Given the description of an element on the screen output the (x, y) to click on. 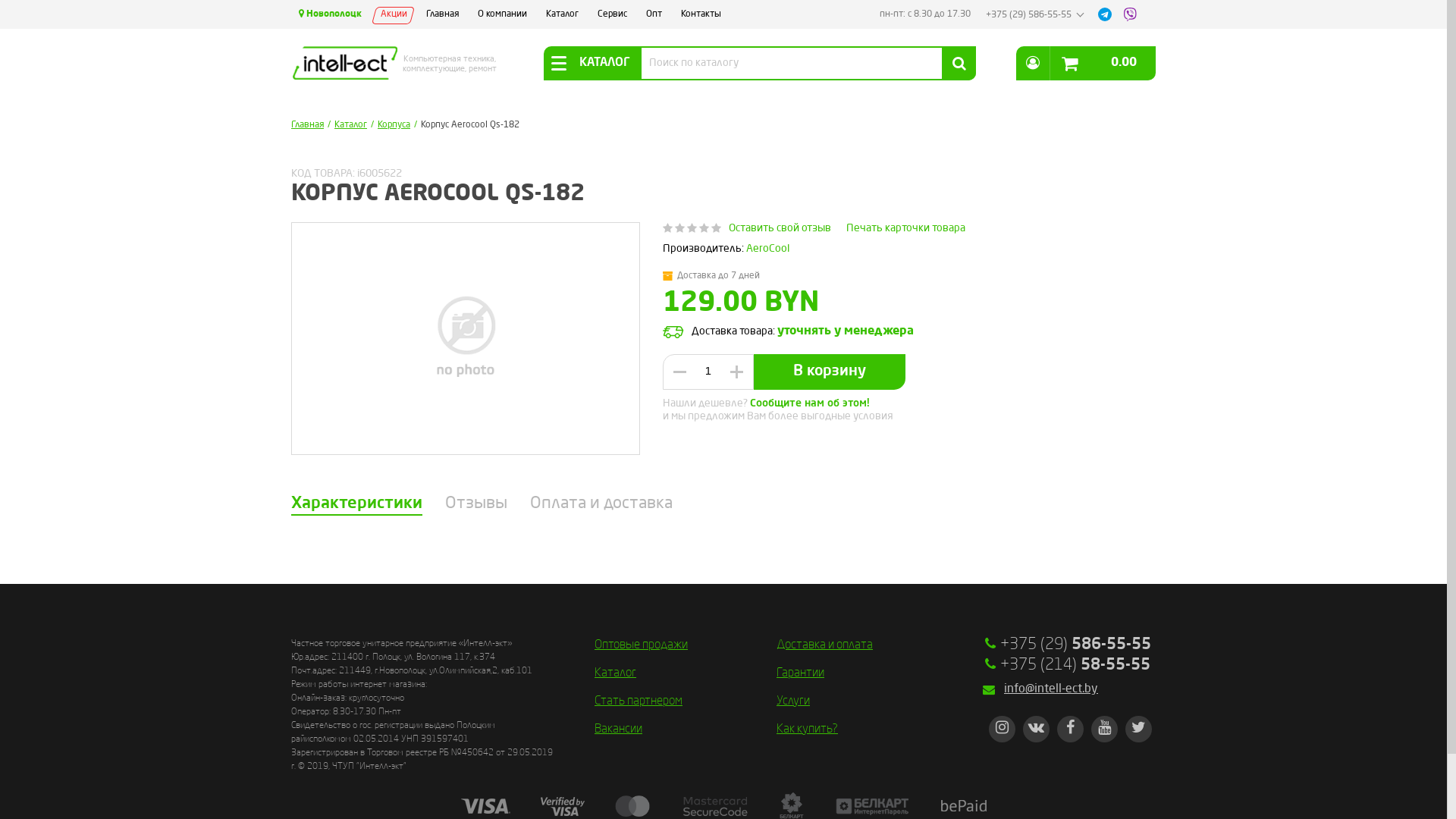
AeroCool Element type: text (767, 248)
+375 (214) 58-55-55 Element type: text (1075, 665)
+375 (29) 586-55-55 Element type: text (1031, 14)
0.00 Element type: text (1102, 62)
+375 (29) 586-55-55 Element type: text (1075, 644)
info@intell-ect.by Element type: text (1079, 688)
